Given the description of an element on the screen output the (x, y) to click on. 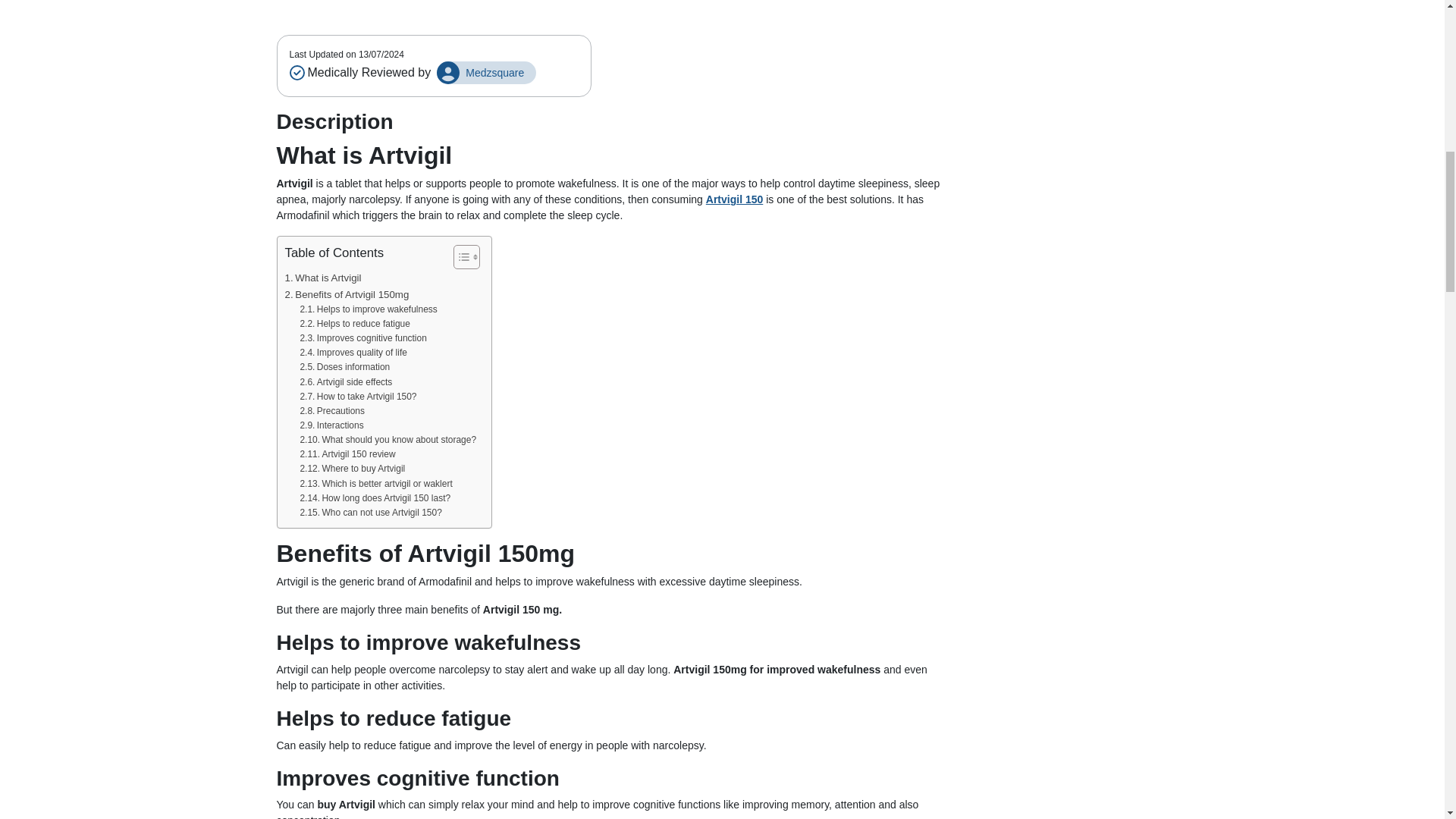
Interactions (330, 425)
Artvigil side effects (345, 382)
What should you know about storage? (387, 440)
What is Artvigil (323, 277)
Helps to reduce fatigue (354, 323)
Doses information (344, 367)
Improves cognitive function (362, 338)
Benefits of Artvigil 150mg (347, 294)
Precautions (332, 411)
How to take Artvigil 150? (357, 396)
